Given the description of an element on the screen output the (x, y) to click on. 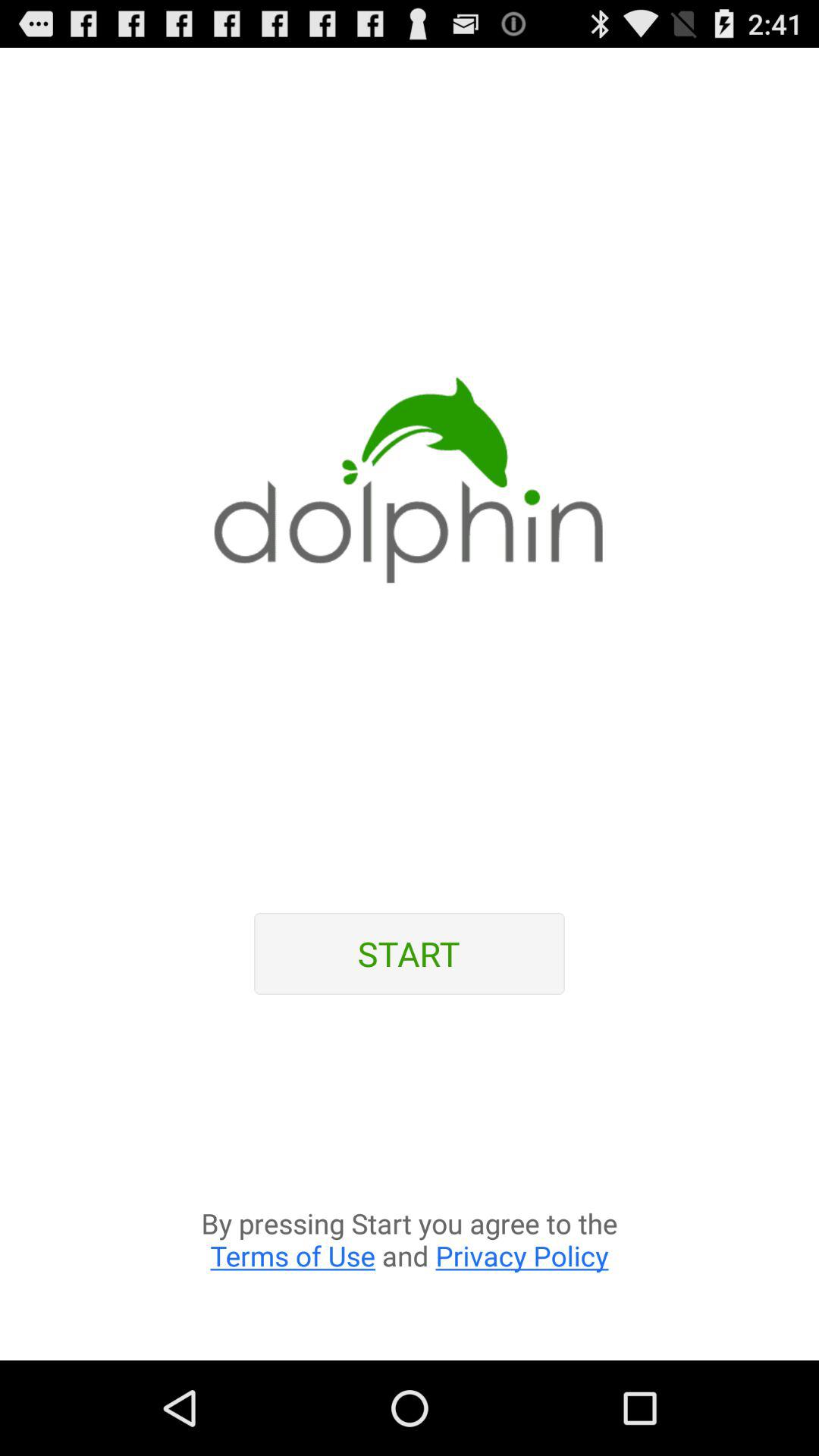
scroll until by pressing start (409, 1186)
